Given the description of an element on the screen output the (x, y) to click on. 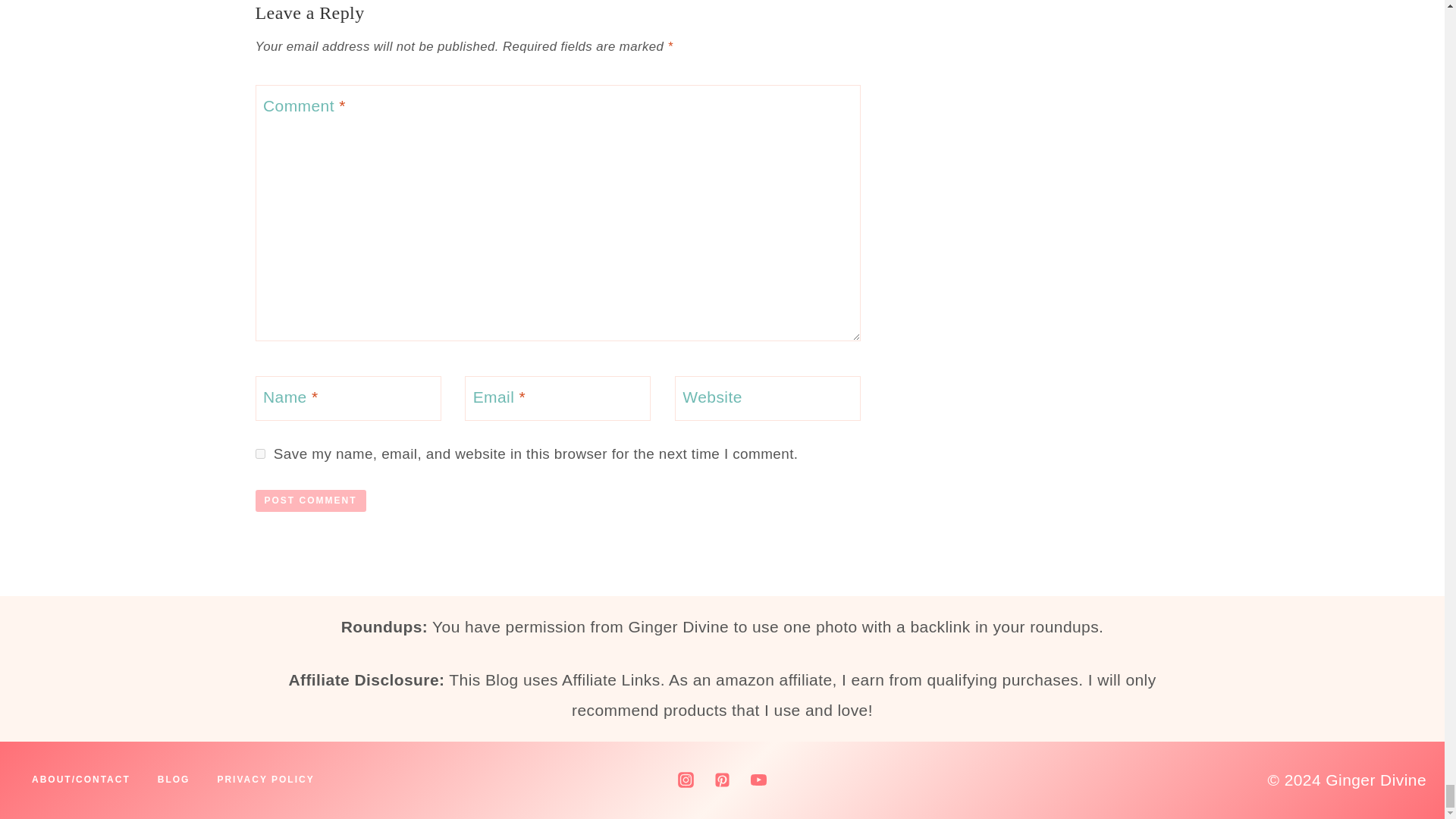
Post Comment (309, 500)
yes (259, 453)
